Given the description of an element on the screen output the (x, y) to click on. 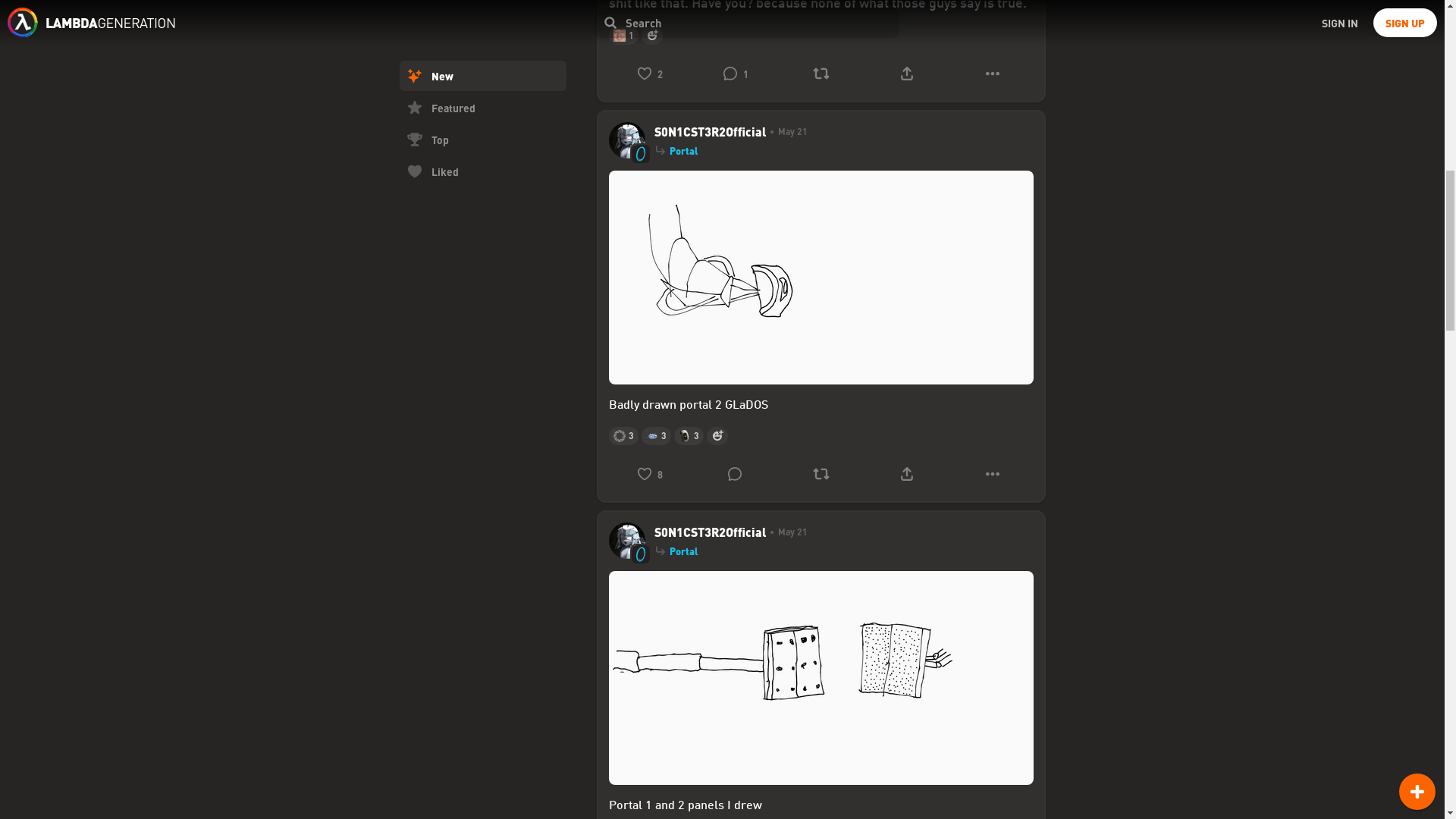
May 21 (786, 531)
Portal (682, 550)
Portal (682, 150)
1 (735, 73)
S0N1CST3R2Official (709, 532)
May 21 (786, 131)
S0N1CST3R2Official (709, 131)
Liked (482, 9)
